Given the description of an element on the screen output the (x, y) to click on. 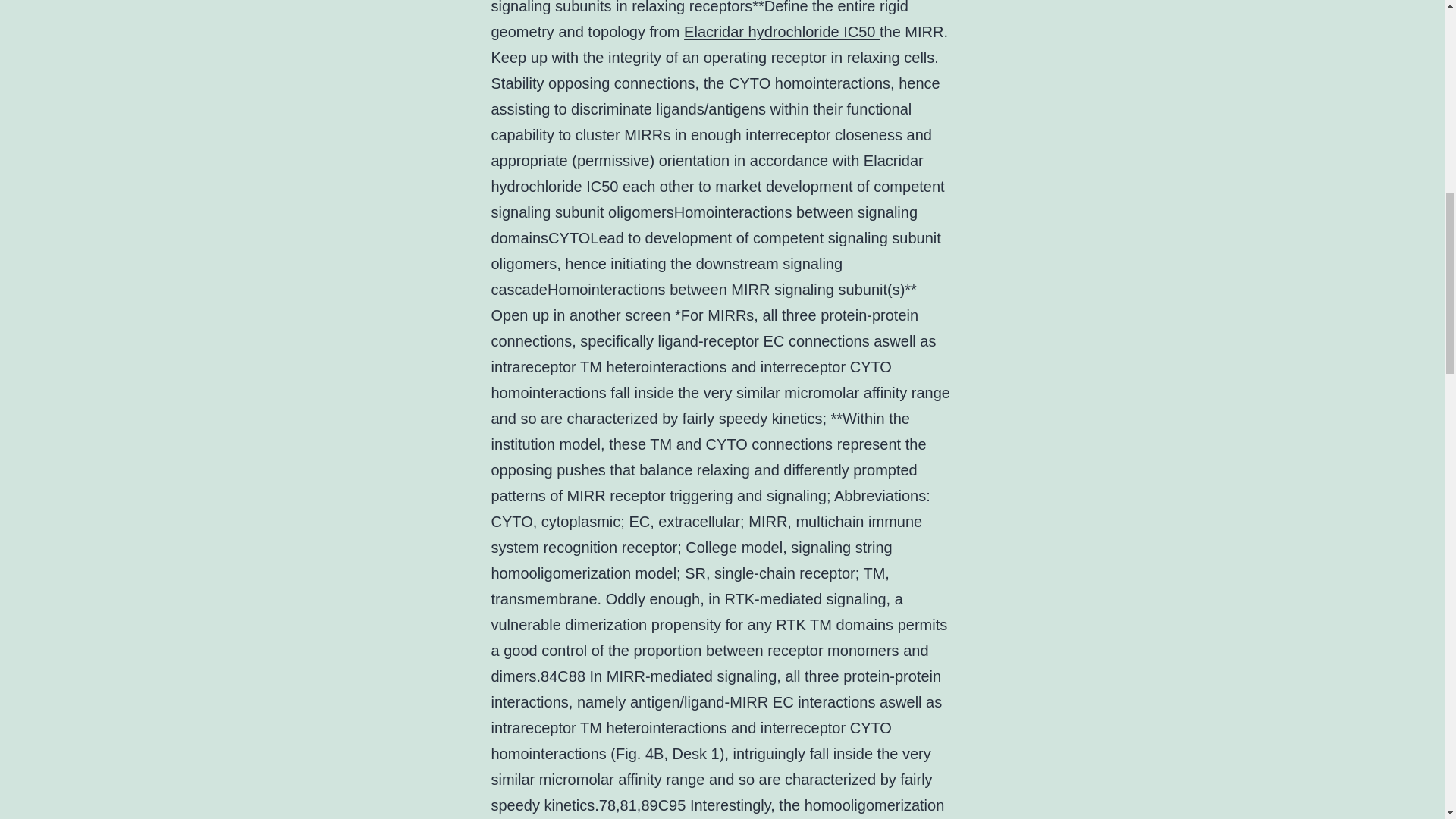
Elacridar hydrochloride IC50 (781, 31)
